Given the description of an element on the screen output the (x, y) to click on. 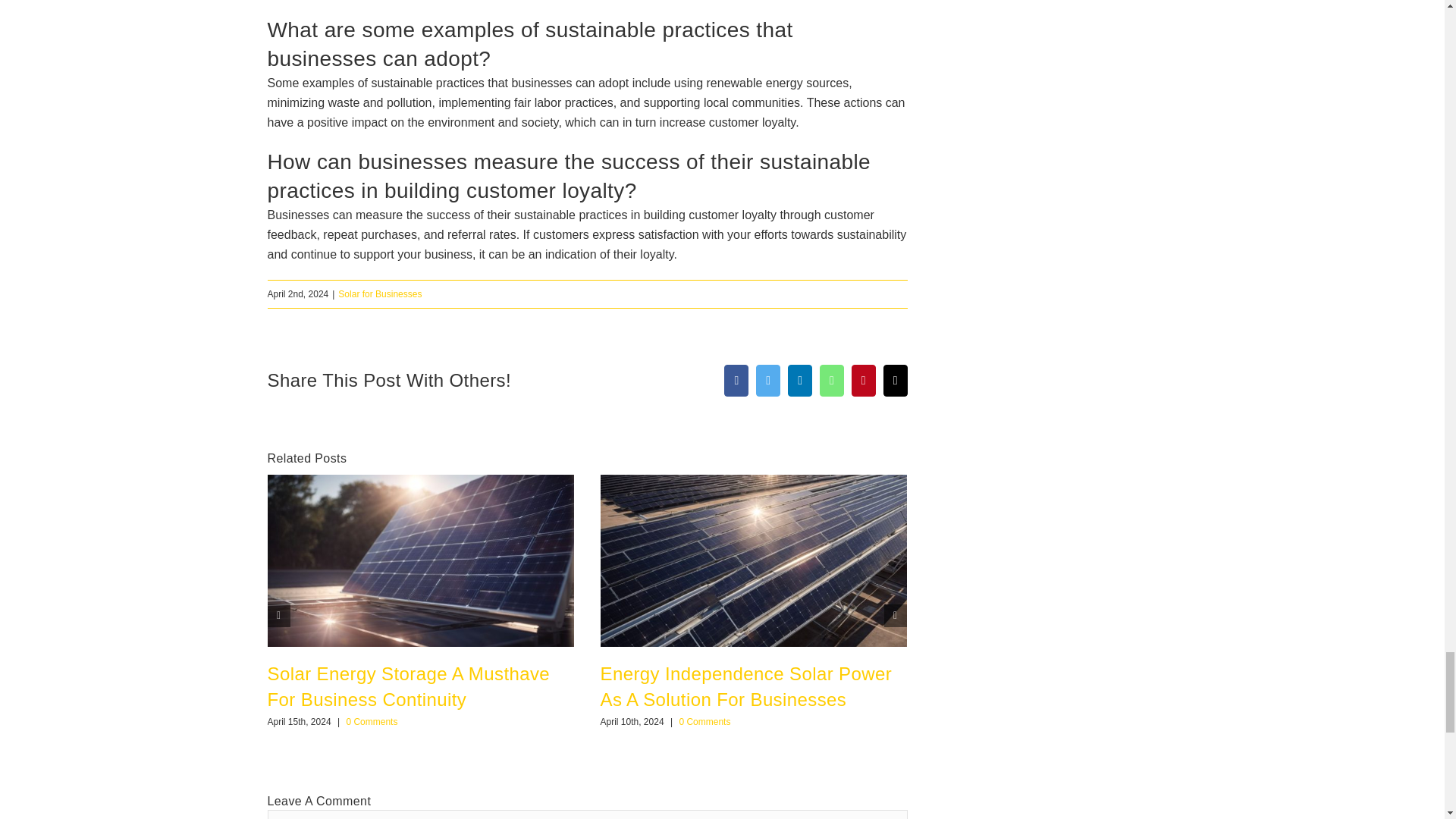
Solar Energy Storage A Musthave For Business Continuity (408, 686)
Energy Independence Solar Power As A Solution For Businesses (745, 686)
